Given the description of an element on the screen output the (x, y) to click on. 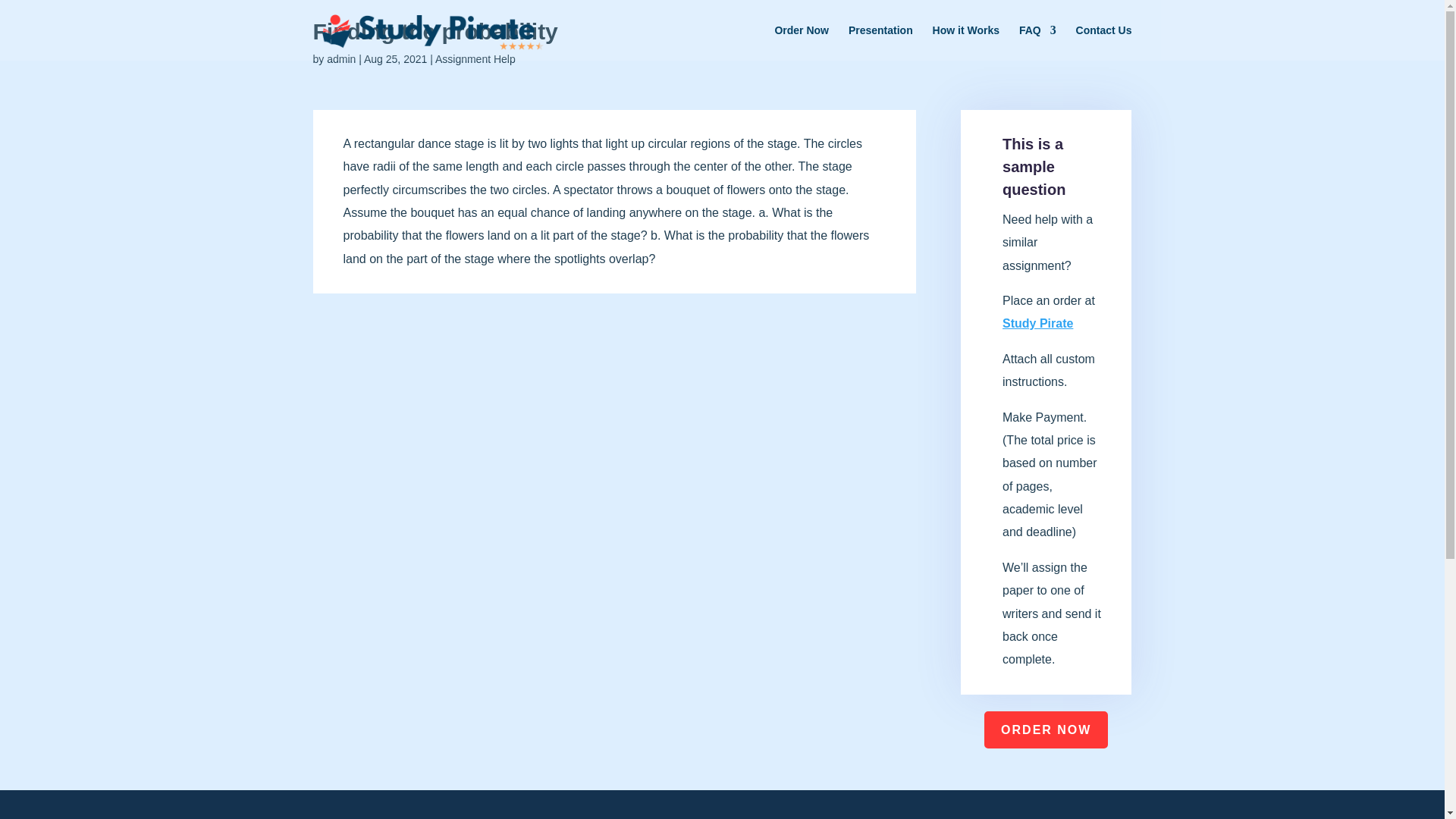
How it Works (965, 42)
Assignment Help (475, 59)
Presentation (880, 42)
Posts by admin (340, 59)
FAQ (1038, 42)
admin (340, 59)
This is a sample question (1034, 166)
Study Pirate (1038, 323)
Order Now (801, 42)
ORDER NOW (1046, 729)
Contact Us (1103, 42)
